Given the description of an element on the screen output the (x, y) to click on. 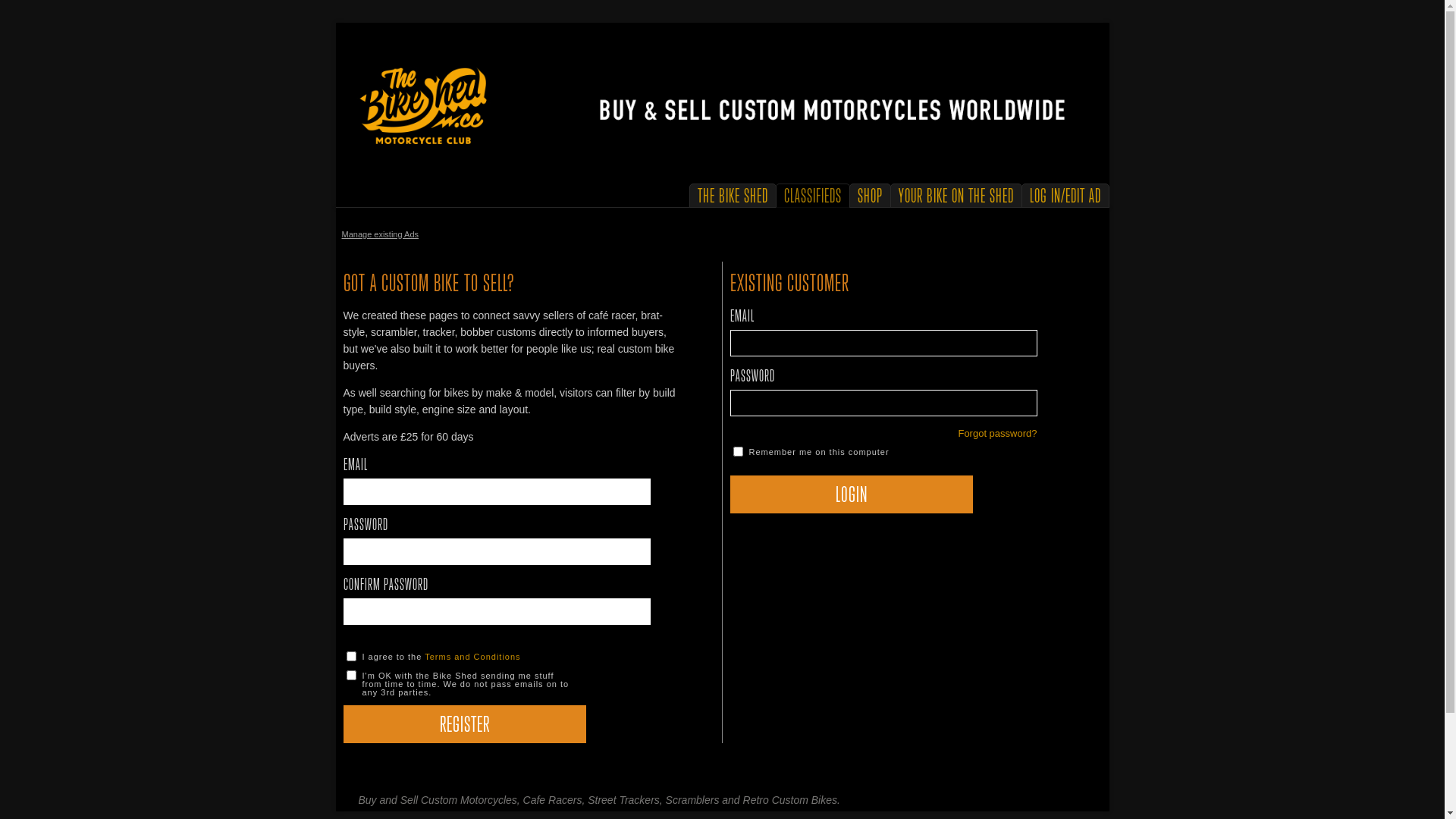
Manage existing Ads Element type: text (379, 233)
LOGIN Element type: text (850, 494)
Terms and Conditions Element type: text (472, 656)
REGISTER Element type: text (463, 724)
THE BIKE SHED Element type: text (732, 197)
SHOP Element type: text (868, 197)
Forgot password? Element type: text (996, 433)
CLASSIFIEDS Element type: text (812, 197)
LOG IN/EDIT AD Element type: text (1065, 197)
YOUR BIKE ON THE SHED Element type: text (955, 197)
